Given the description of an element on the screen output the (x, y) to click on. 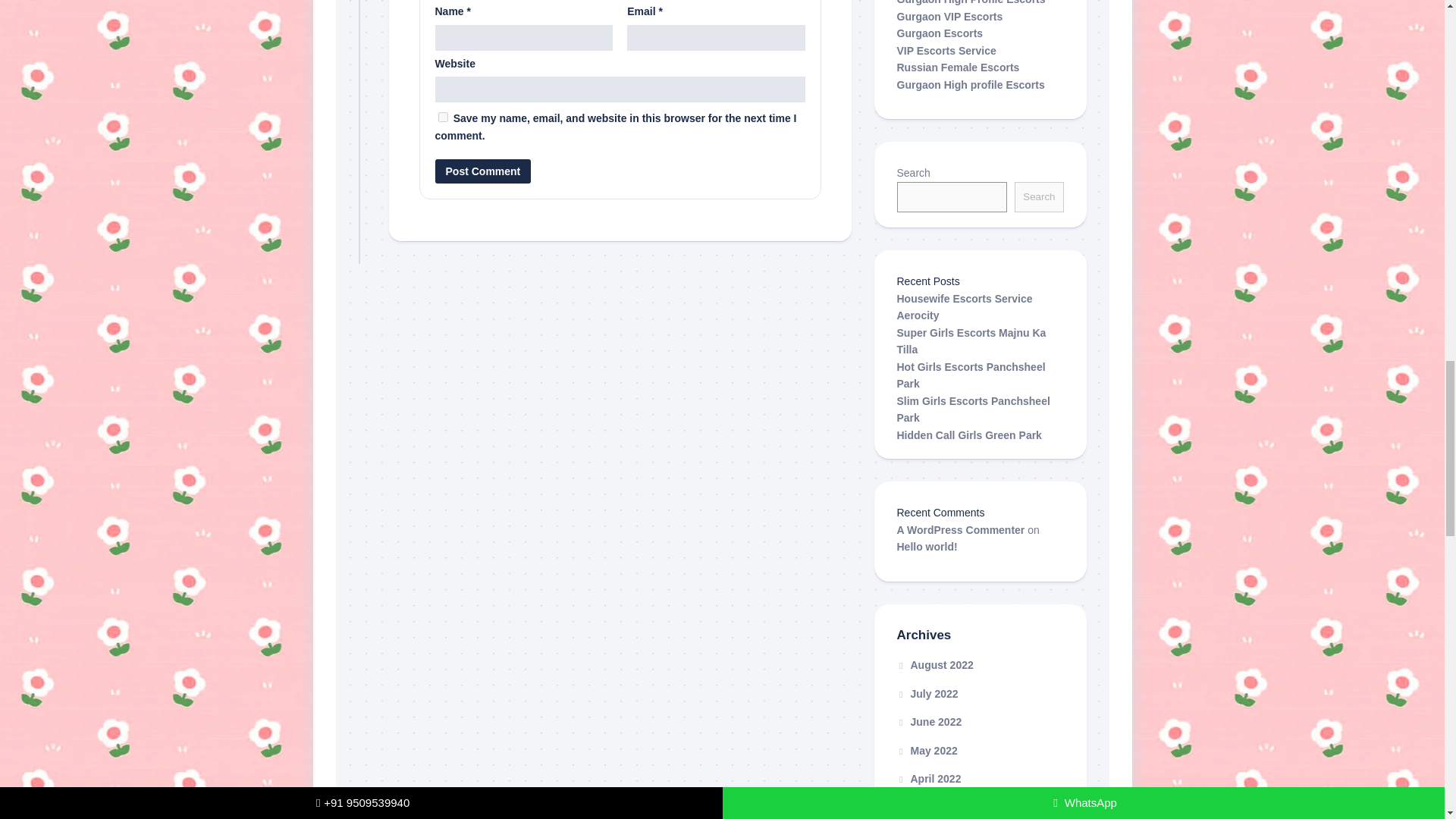
Post Comment (483, 170)
yes (443, 117)
Post Comment (483, 170)
